Given the description of an element on the screen output the (x, y) to click on. 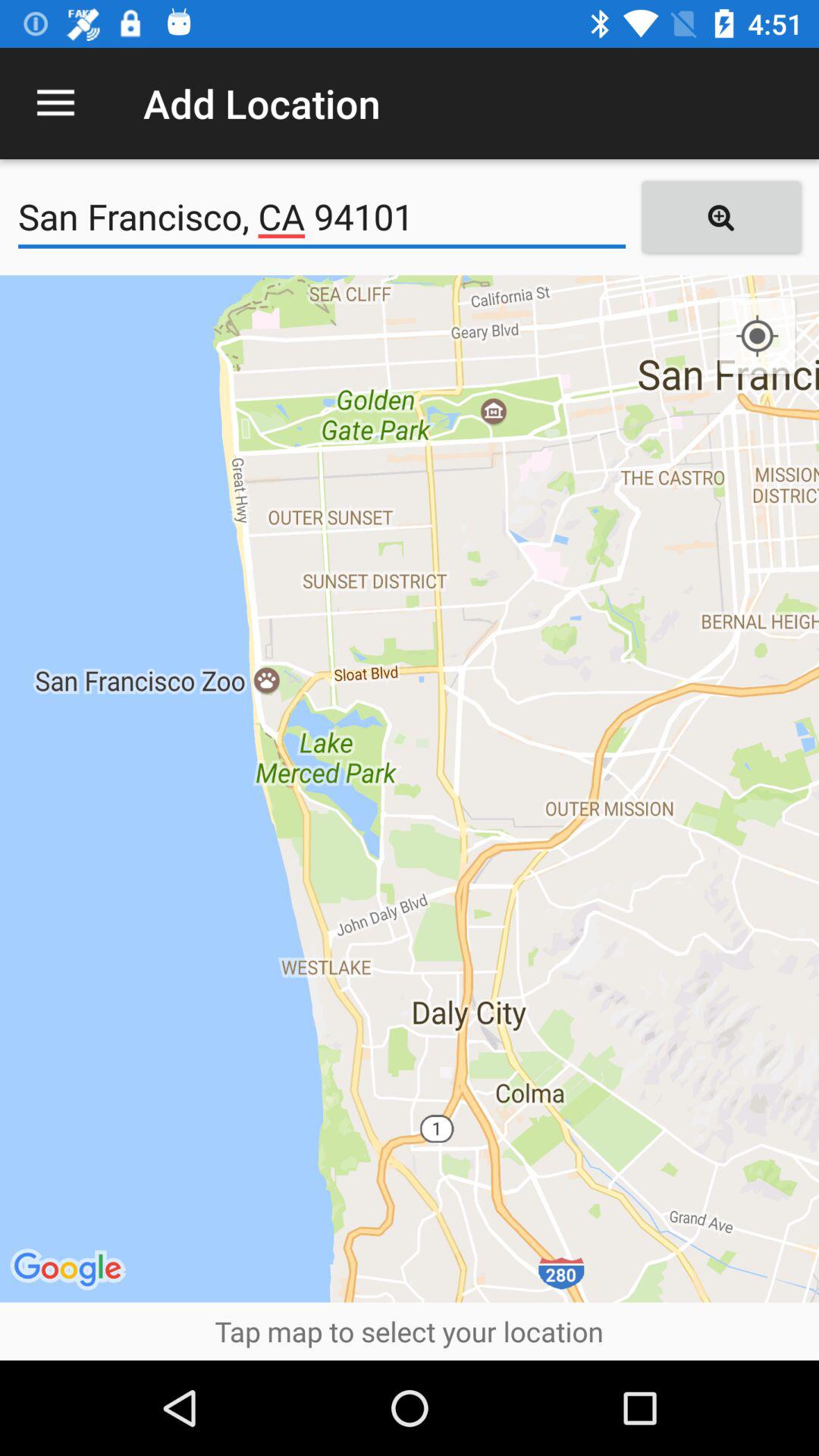
choose the item above san francisco ca icon (55, 103)
